Given the description of an element on the screen output the (x, y) to click on. 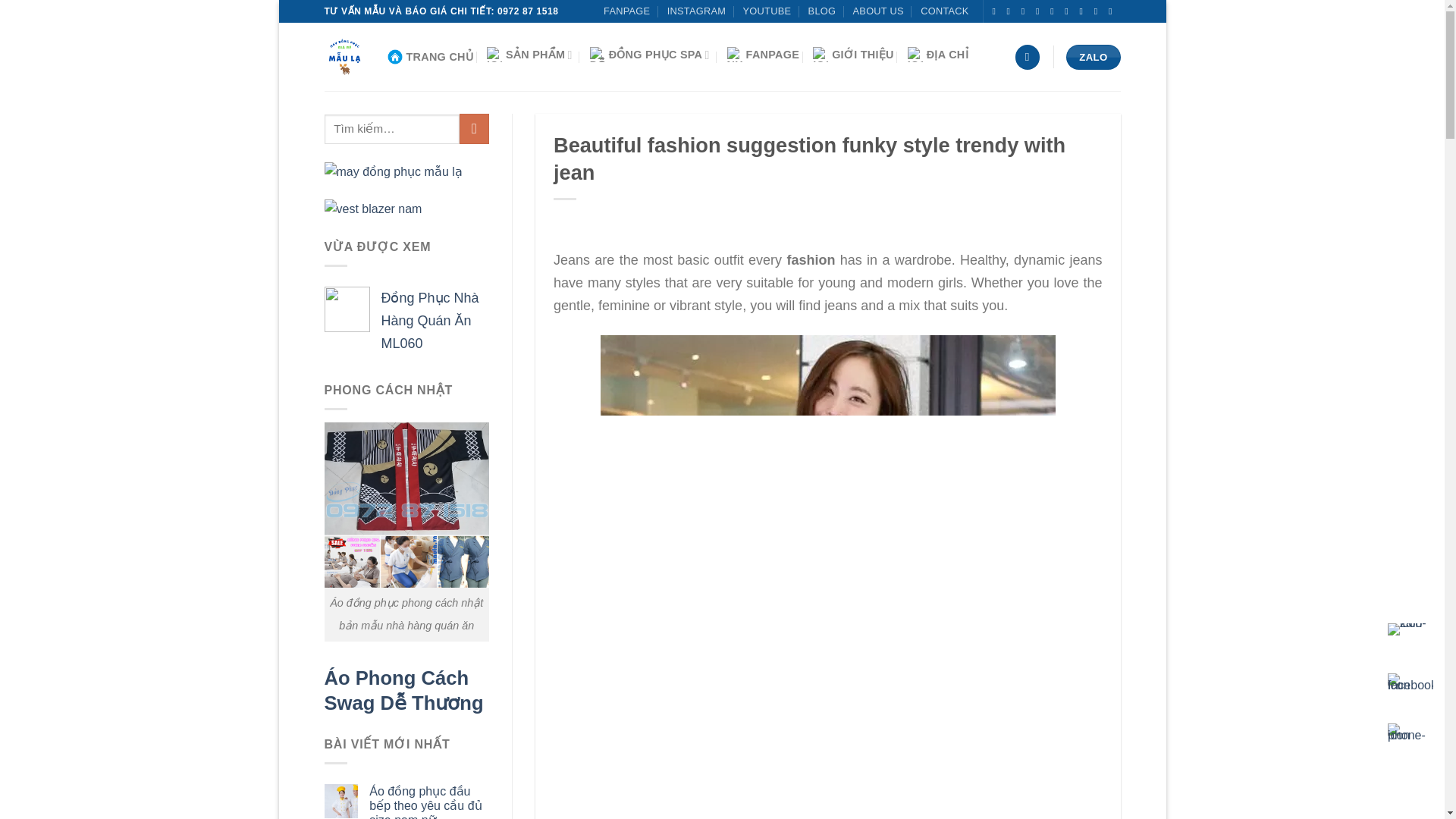
INSTAGRAM (695, 11)
FANPAGE (762, 54)
YOUTUBE (767, 11)
FANPAGE (626, 11)
BLOG (821, 11)
